Given the description of an element on the screen output the (x, y) to click on. 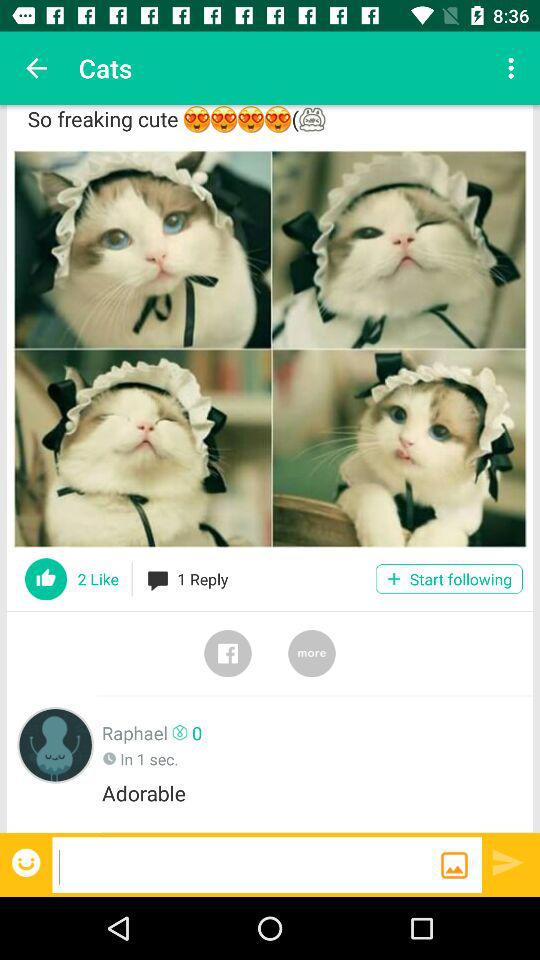
press the item to the left of the raphael (55, 744)
